Given the description of an element on the screen output the (x, y) to click on. 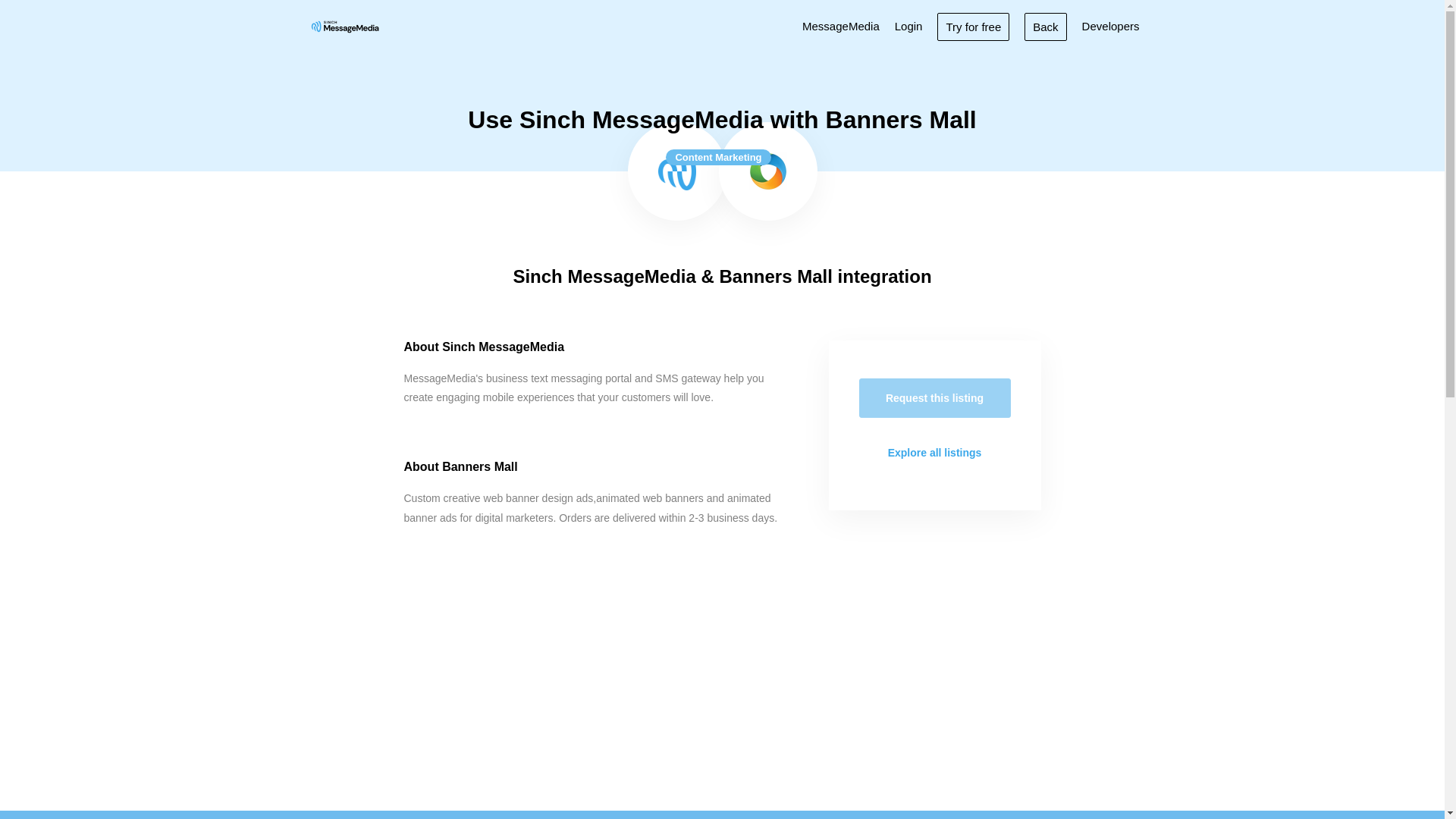
Login (909, 25)
Sinch MessageMedia (344, 26)
Banners Mall (768, 171)
Back (1045, 26)
Explore all listings (934, 452)
MessageMedia (840, 25)
Try for free (973, 26)
Developers (1110, 25)
Sinch MessageMedia (676, 171)
Request this listing (934, 397)
